Given the description of an element on the screen output the (x, y) to click on. 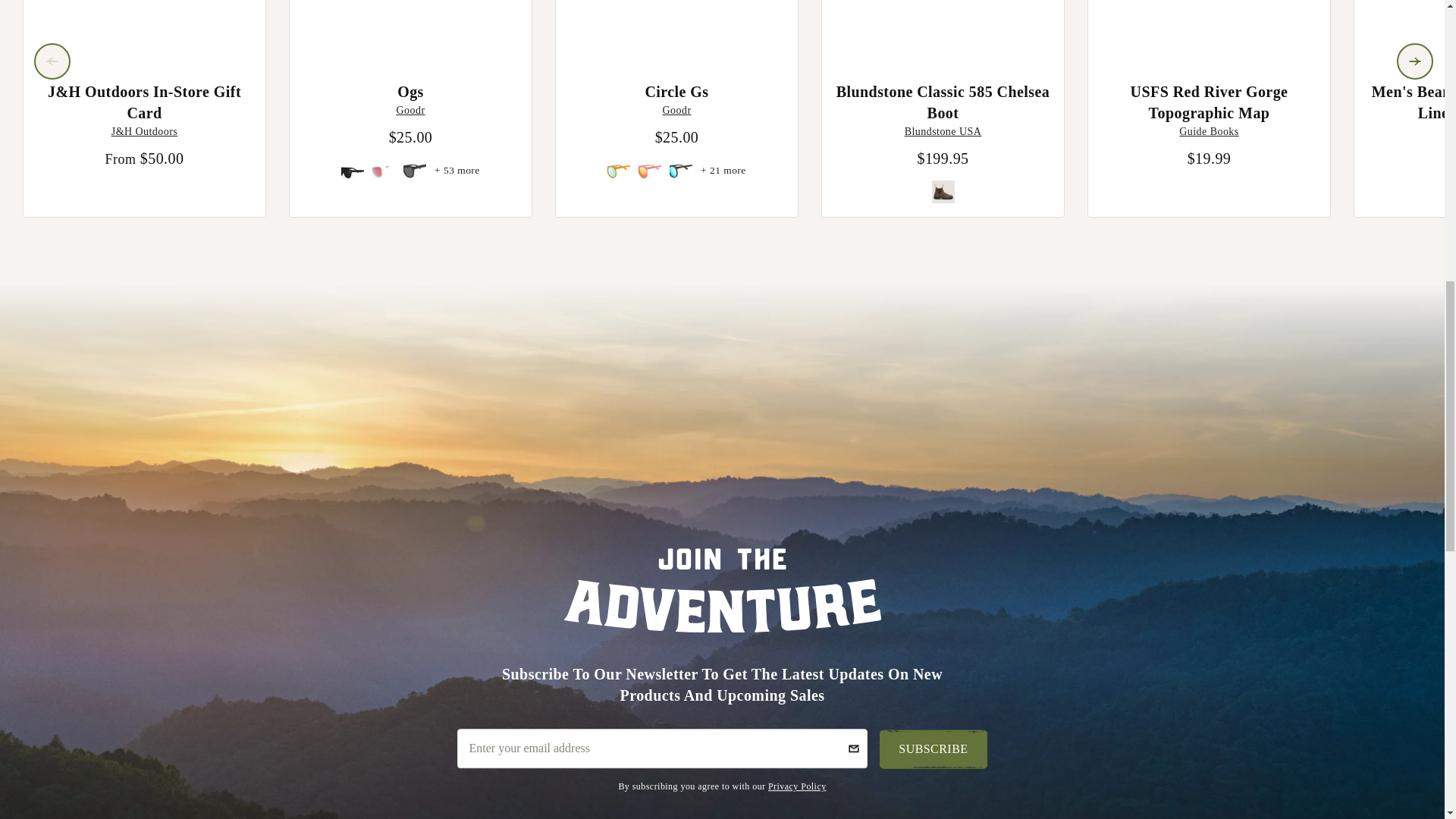
Guide Books (1209, 131)
View USFS Red River Gorge Topographic Map (1209, 29)
Goodr (676, 110)
View Blundstone Classic 585 Chelsea Boot (942, 29)
Blundstone USA (942, 131)
View Circle Gs (676, 29)
View Ogs (410, 29)
Goodr (410, 110)
